Given the description of an element on the screen output the (x, y) to click on. 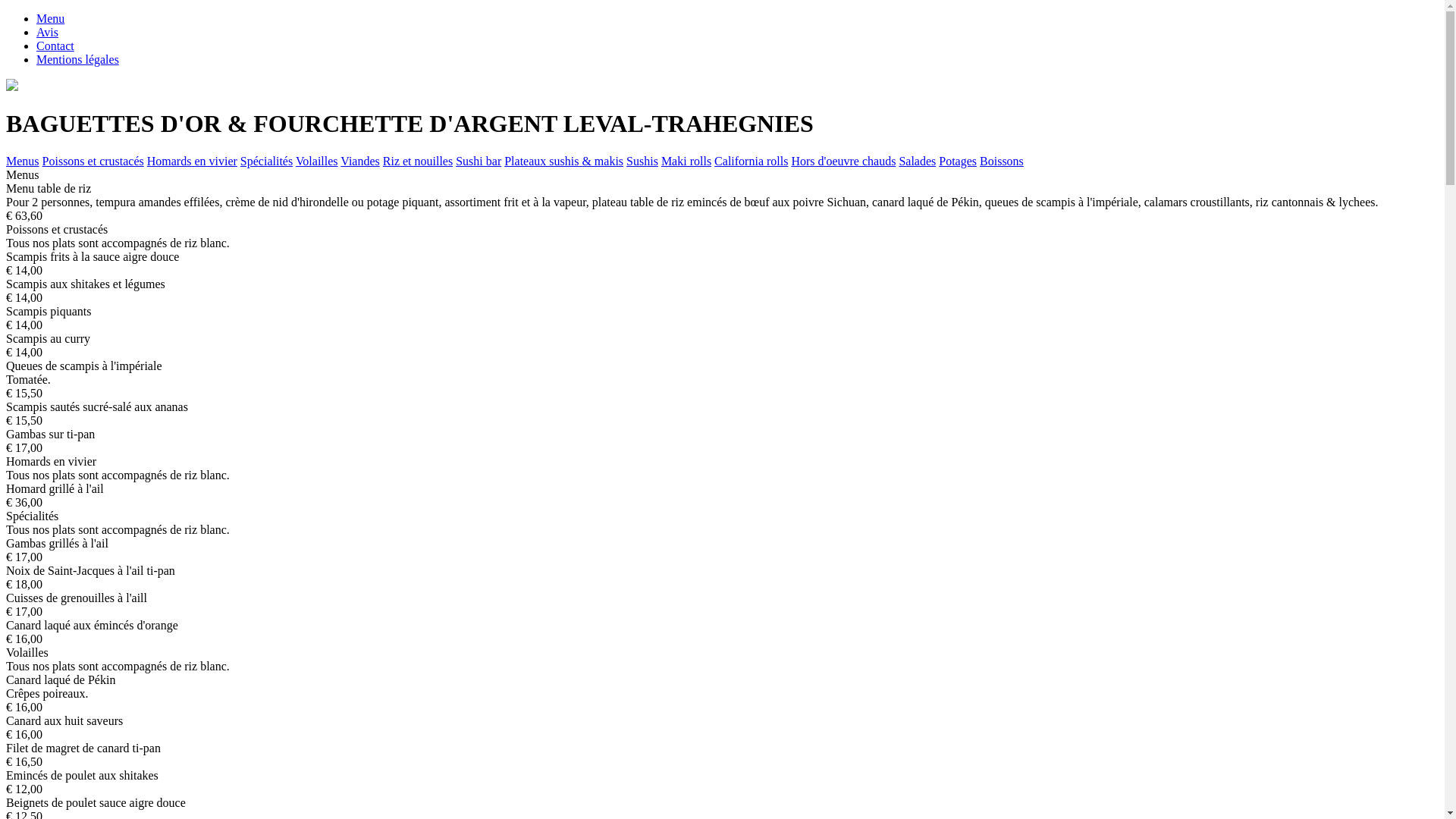
Riz et nouilles Element type: text (417, 160)
Contact Element type: text (55, 45)
Sushis Element type: text (642, 160)
Viandes Element type: text (359, 160)
Salades Element type: text (916, 160)
California rolls Element type: text (750, 160)
Volailles Element type: text (316, 160)
Hors d'oeuvre chauds Element type: text (842, 160)
Boissons Element type: text (1001, 160)
Potages Element type: text (957, 160)
Homards en vivier Element type: text (192, 160)
Maki rolls Element type: text (686, 160)
Sushi bar Element type: text (478, 160)
Menus Element type: text (22, 160)
Menu Element type: text (50, 18)
Plateaux sushis & makis Element type: text (563, 160)
Avis Element type: text (47, 31)
